Given the description of an element on the screen output the (x, y) to click on. 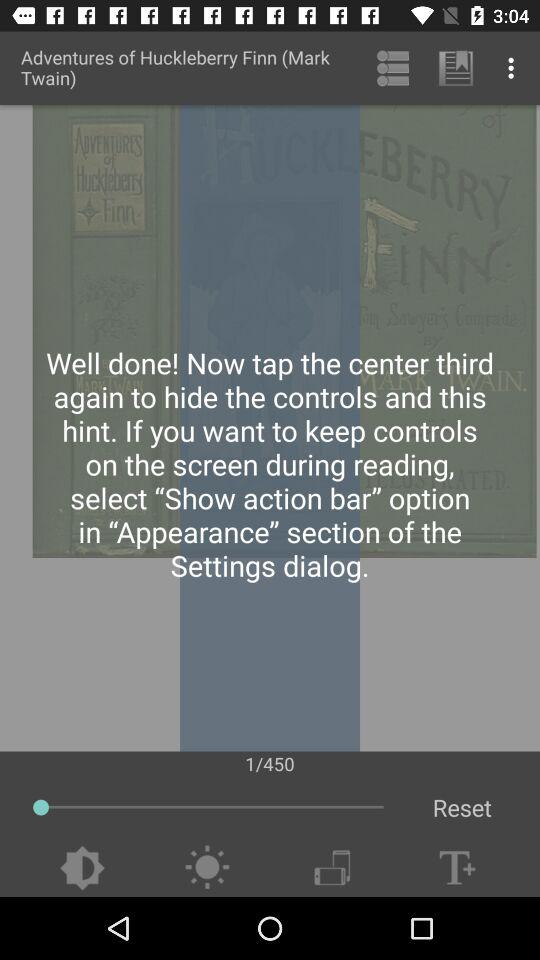
switch phone orientation (331, 867)
